Given the description of an element on the screen output the (x, y) to click on. 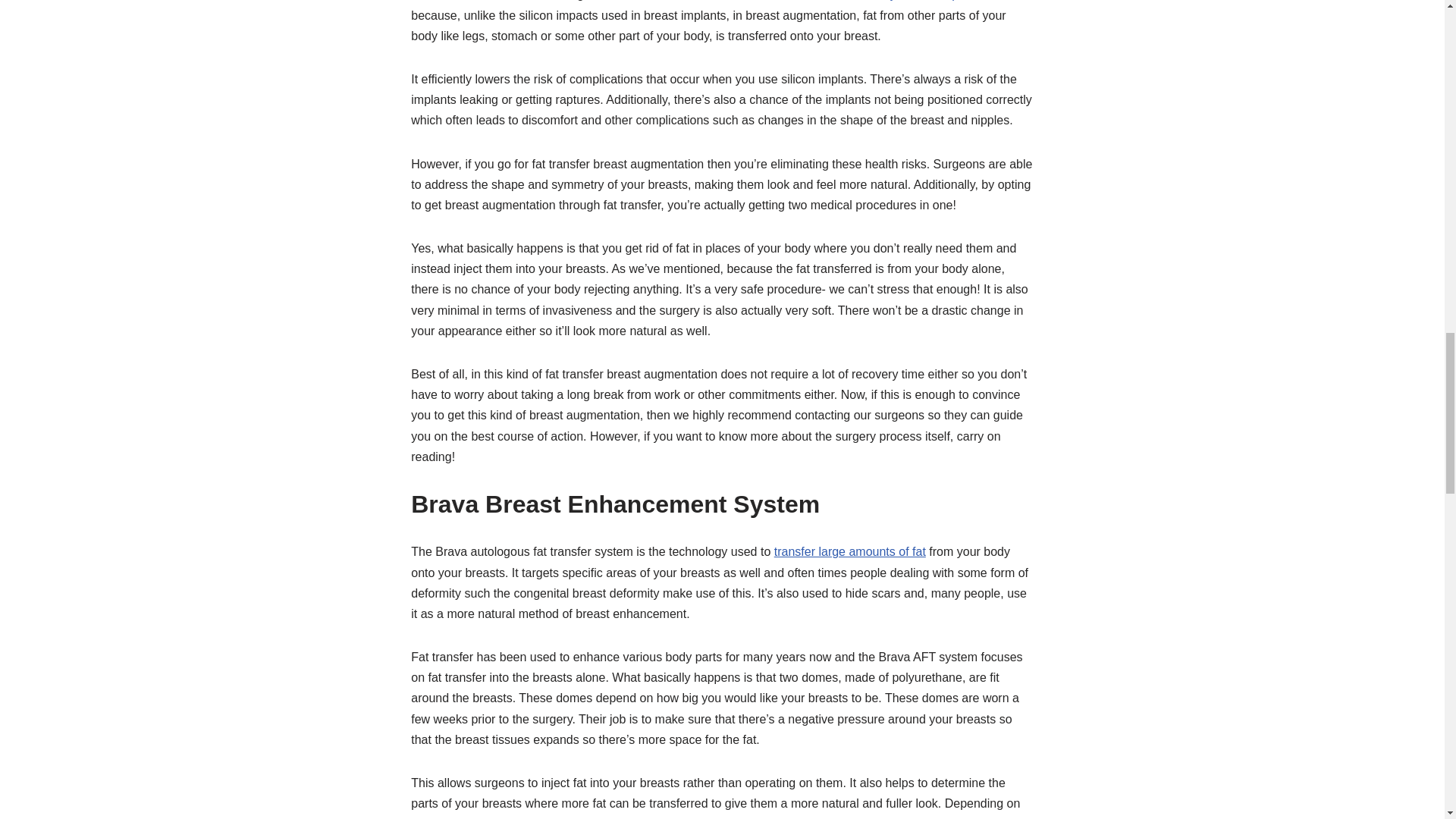
transfer large amounts of fat (850, 551)
